Given the description of an element on the screen output the (x, y) to click on. 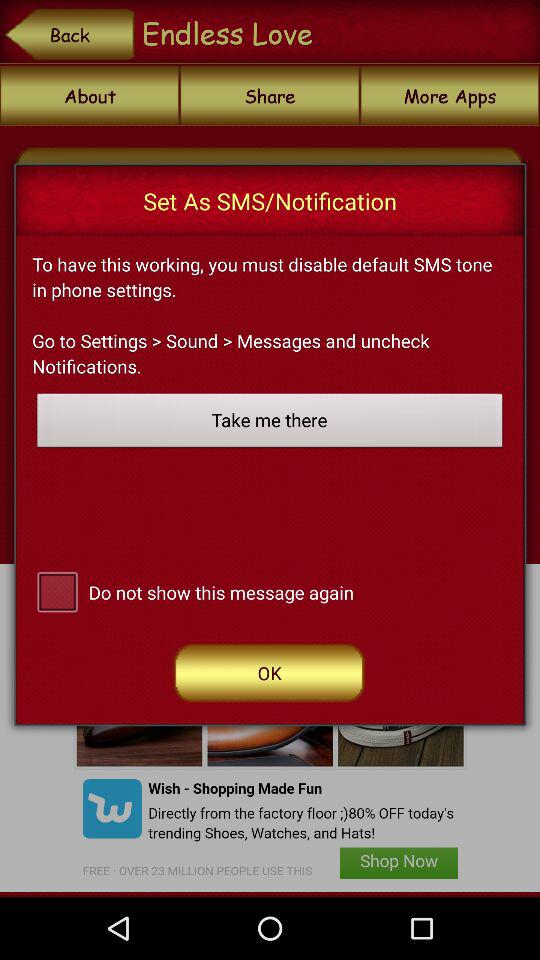
click to do not show message again (57, 590)
